Given the description of an element on the screen output the (x, y) to click on. 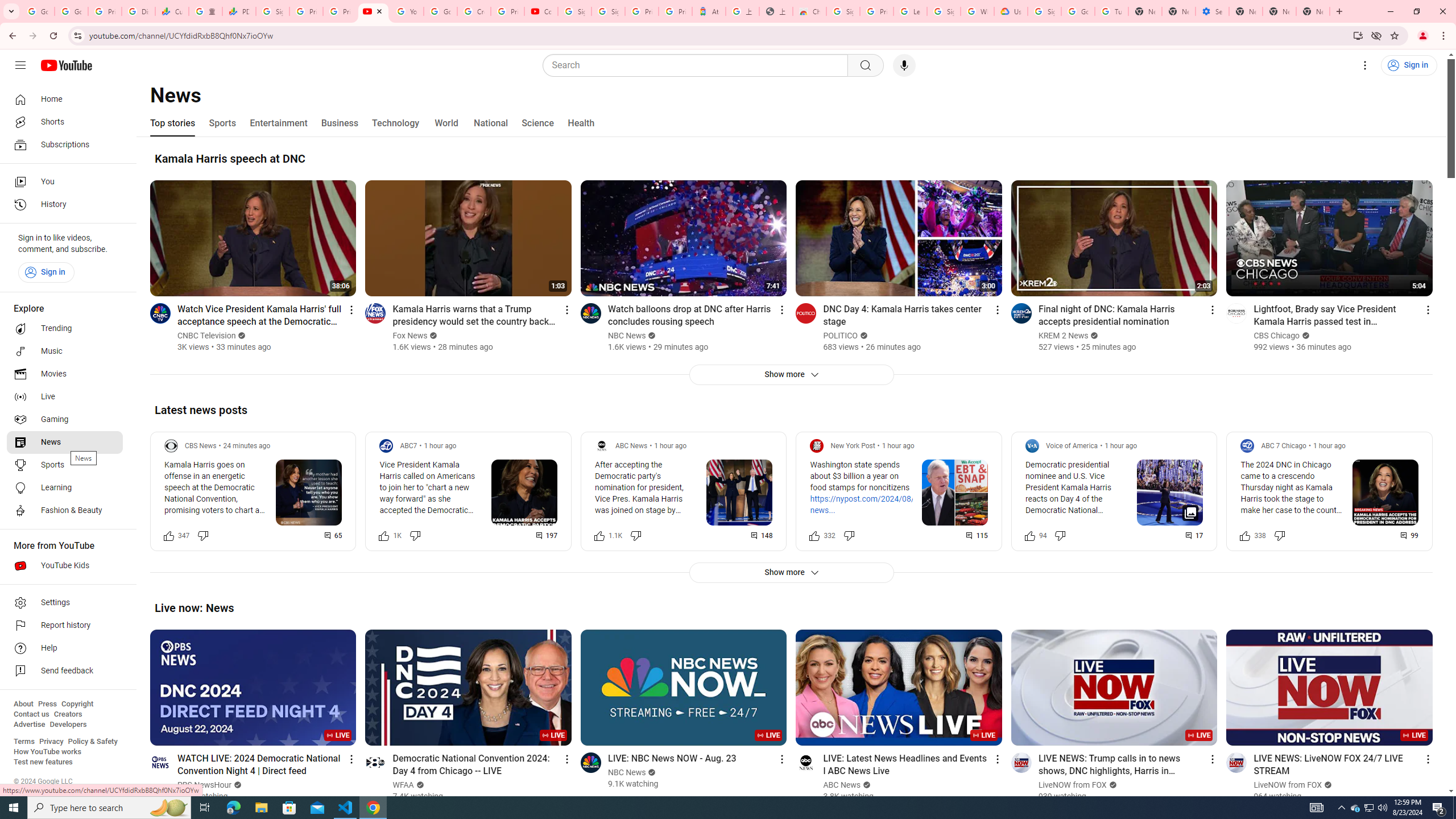
PBS NewsHour (204, 784)
New Tab (1313, 11)
Health (580, 122)
Music (64, 350)
Learning (64, 487)
Guide (20, 65)
ABC 7 Chicago (1283, 445)
Help (64, 648)
